Given the description of an element on the screen output the (x, y) to click on. 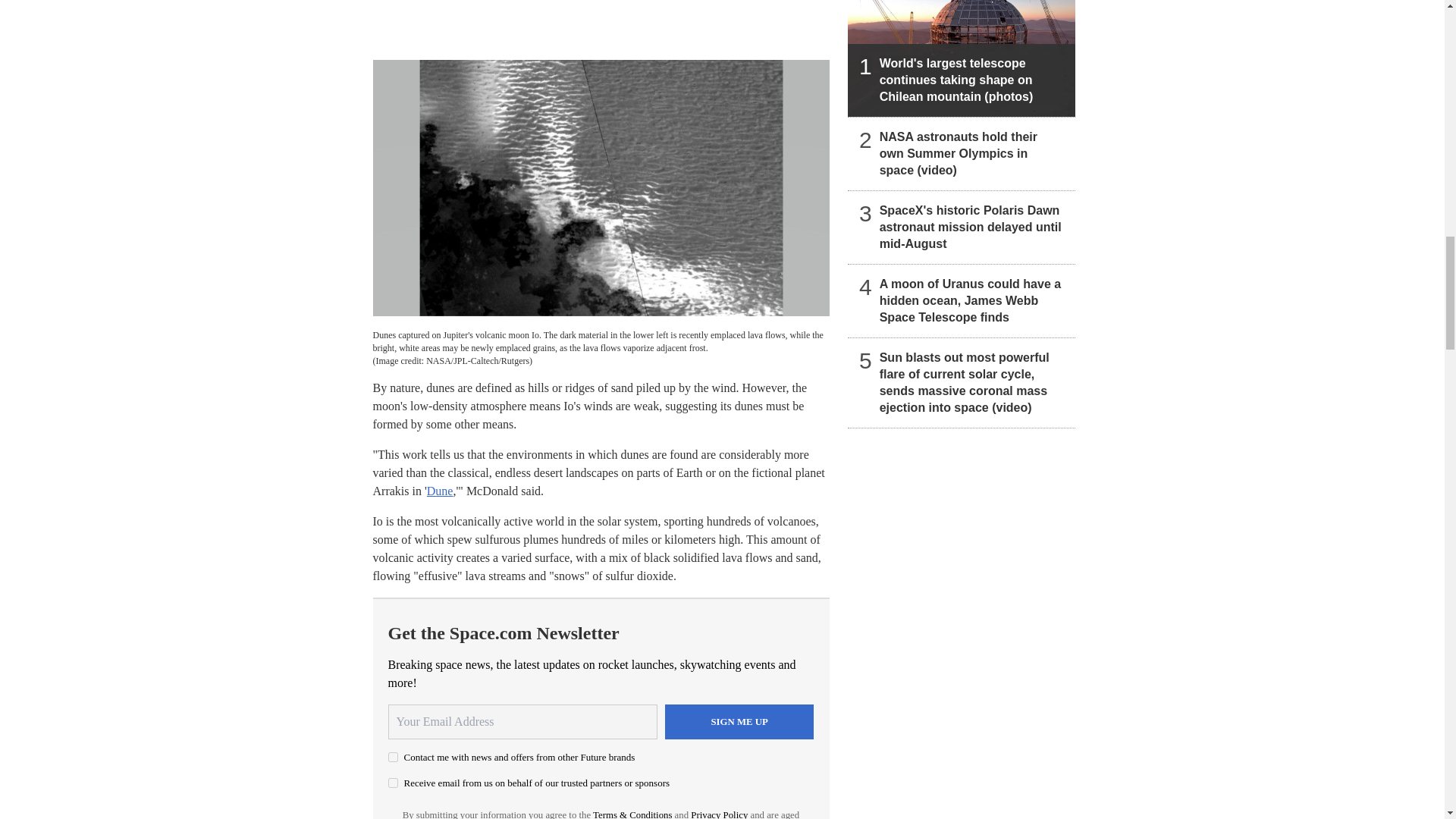
Sign me up (739, 721)
on (392, 757)
on (392, 782)
